Given the description of an element on the screen output the (x, y) to click on. 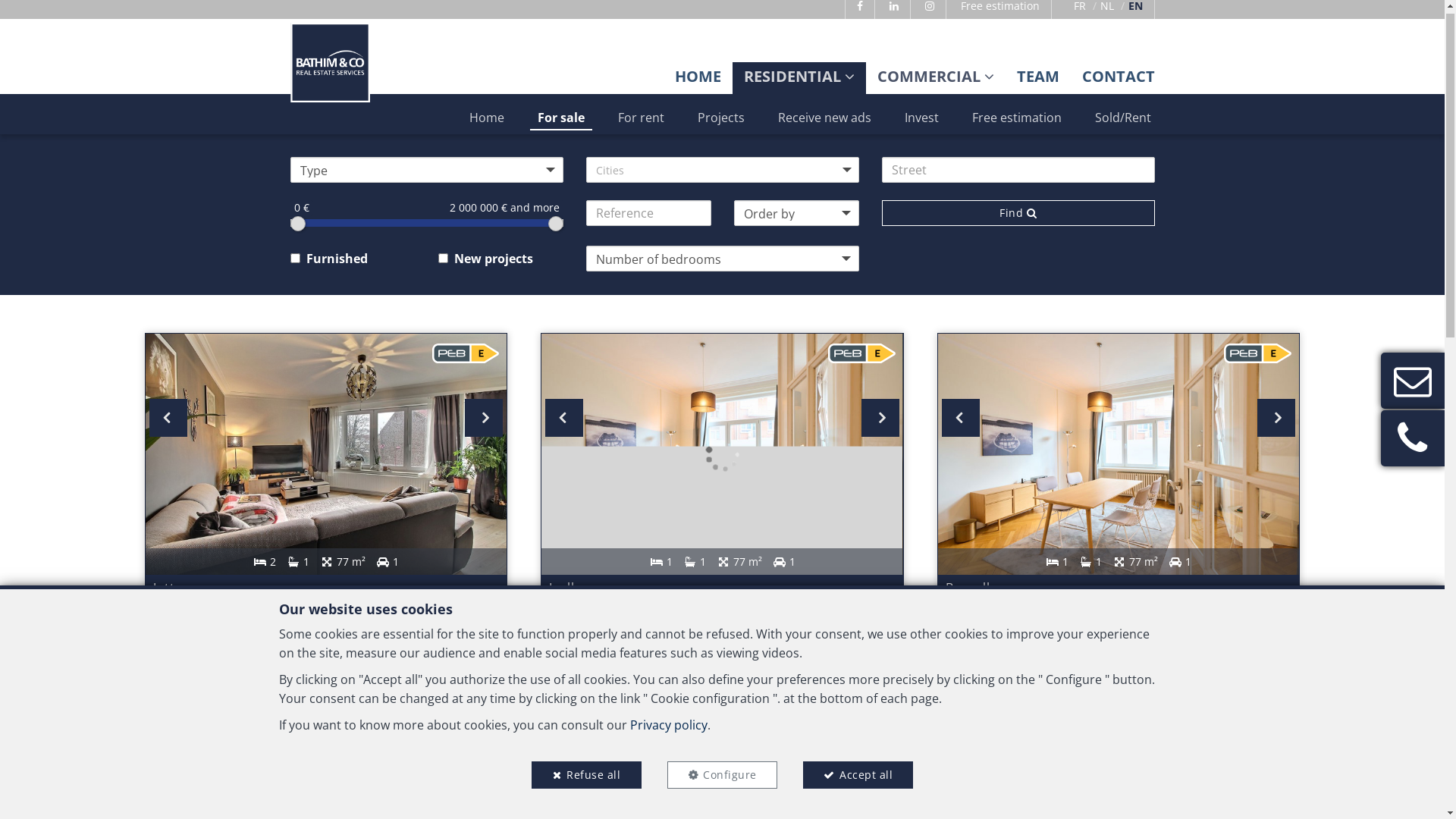
Home Element type: text (485, 125)
Find Element type: text (1017, 220)
TEAM Element type: text (1037, 83)
Privacy policy Element type: text (667, 732)
COMMERCIAL Element type: text (934, 83)
Projects Element type: text (720, 125)
Free estimation Element type: text (1016, 125)
Invest Element type: text (920, 125)
FR Element type: text (1079, 13)
RESIDENTIAL Element type: text (798, 83)
For sale Element type: text (560, 125)
For rent Element type: text (640, 125)
CONTACT Element type: text (1117, 83)
Configure Element type: text (722, 782)
EN Element type: text (1135, 13)
Free estimation Element type: text (1000, 13)
Sold/Rent Element type: text (1122, 125)
Accept all Element type: text (858, 782)
NL Element type: text (1106, 13)
Refuse all Element type: text (586, 782)
HOME Element type: text (697, 83)
Receive new ads Element type: text (824, 125)
